Given the description of an element on the screen output the (x, y) to click on. 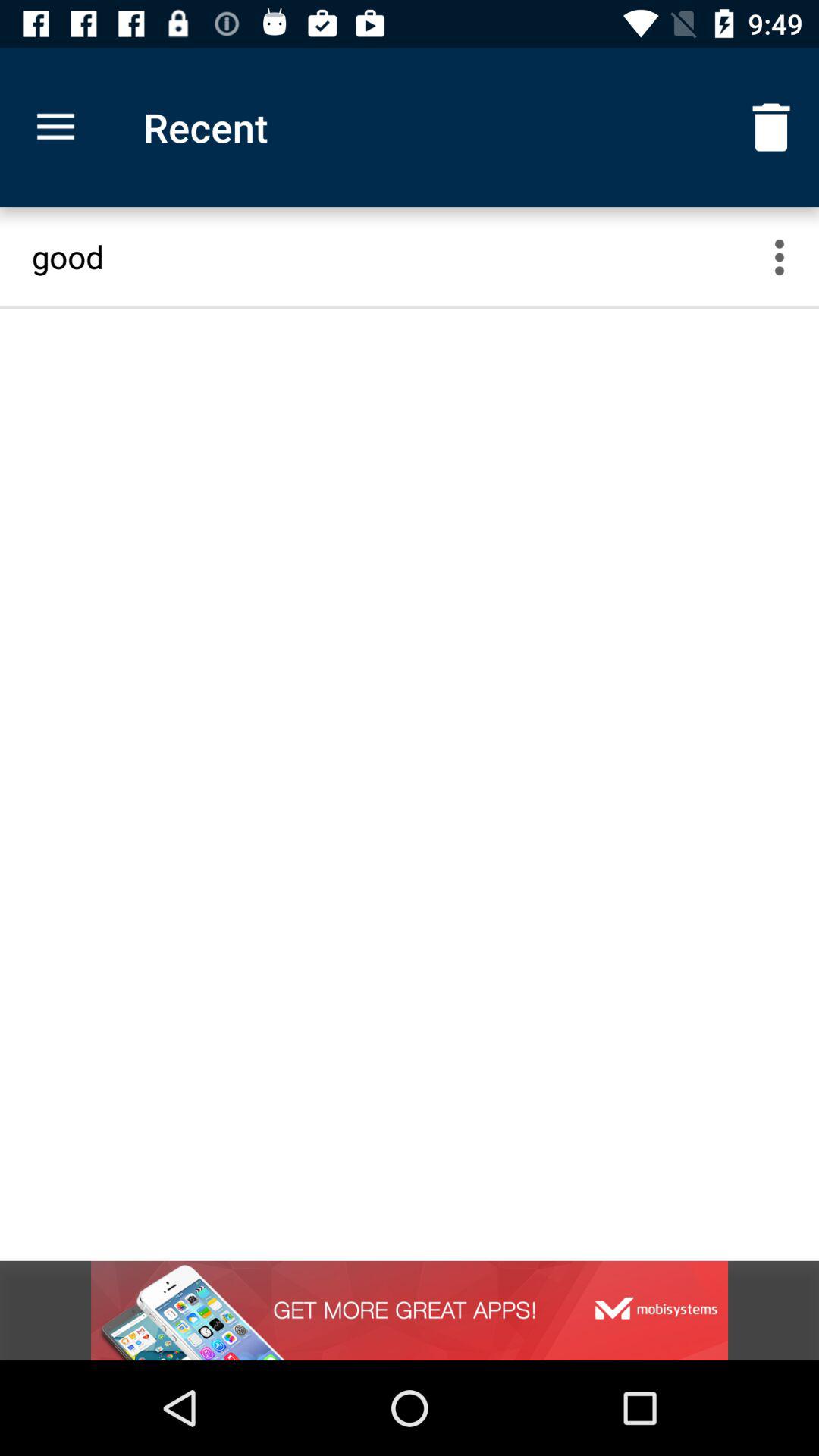
launch the icon next to recent icon (55, 127)
